Given the description of an element on the screen output the (x, y) to click on. 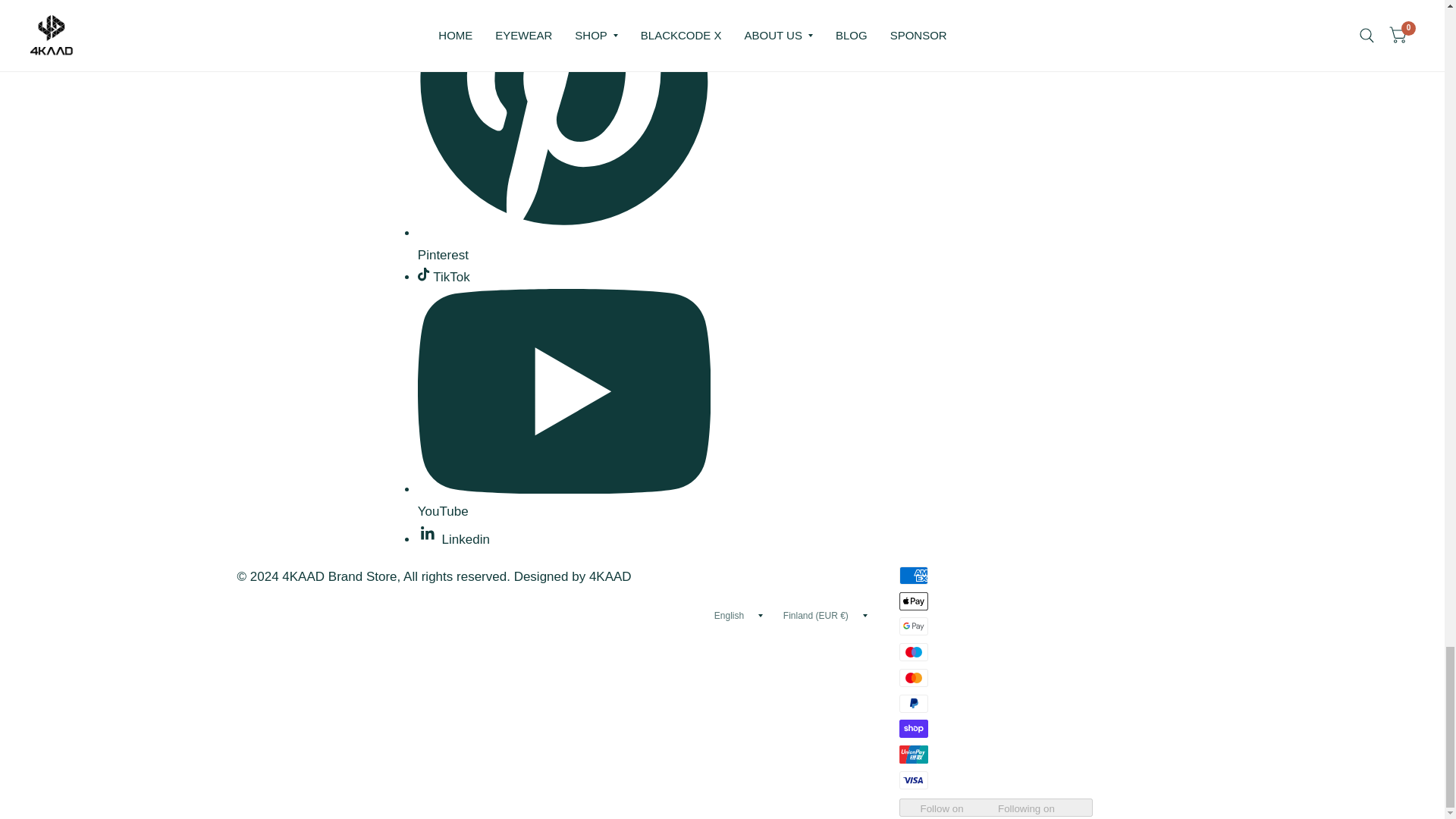
Google Pay (913, 626)
Apple Pay (913, 601)
Maestro (913, 651)
PayPal (913, 703)
American Express (913, 575)
Mastercard (913, 678)
Shop Pay (913, 728)
Visa (913, 780)
Union Pay (913, 754)
